Given the description of an element on the screen output the (x, y) to click on. 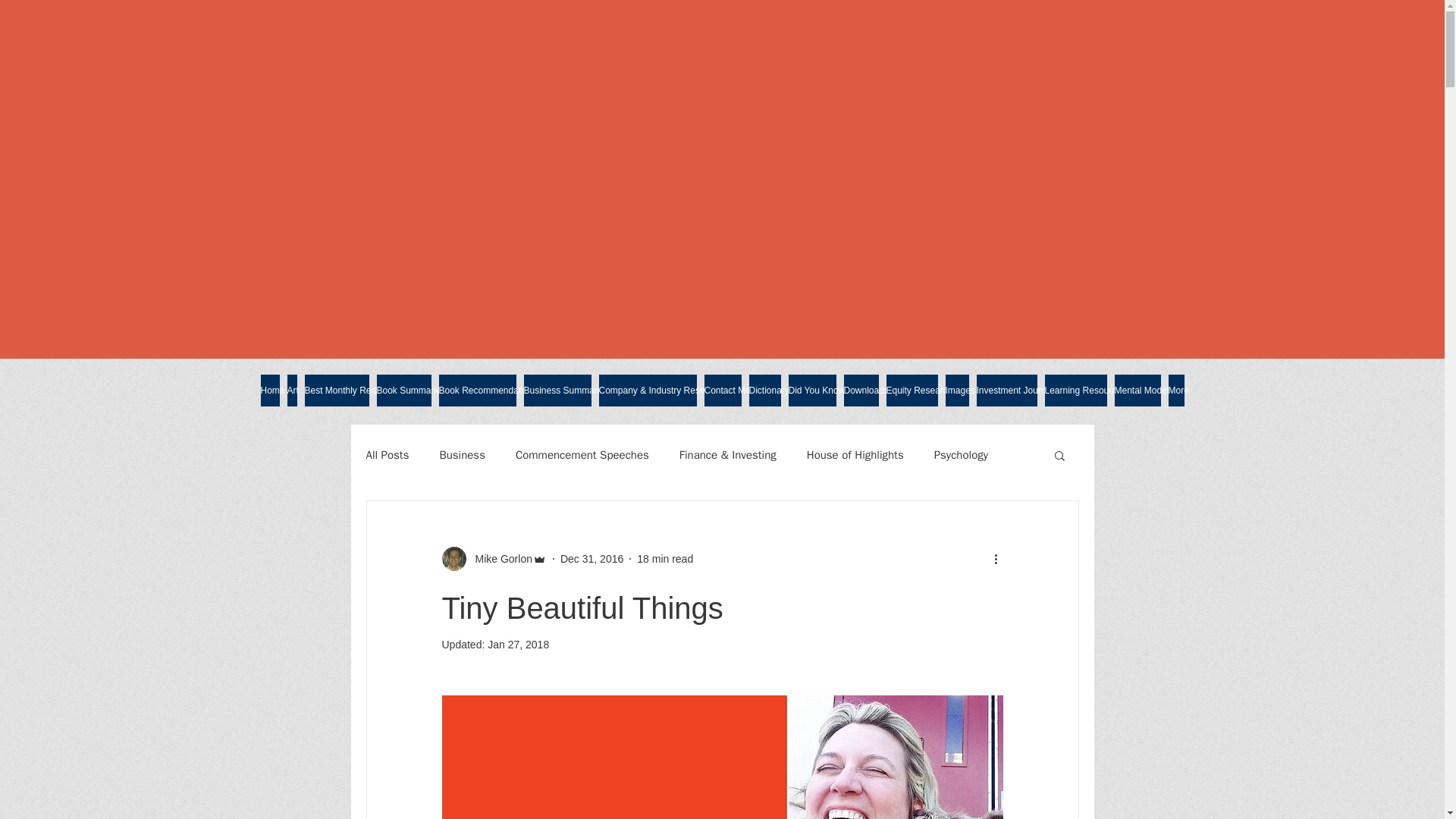
Commencement Speeches (582, 454)
Investment Journal (1006, 390)
Did You Know? (812, 390)
Business Summaries (556, 390)
Business (461, 454)
Book Recommendations (476, 390)
Learning Resources (1075, 390)
Equity Research (911, 390)
Dec 31, 2016 (591, 558)
Mike Gorlon (493, 558)
